Given the description of an element on the screen output the (x, y) to click on. 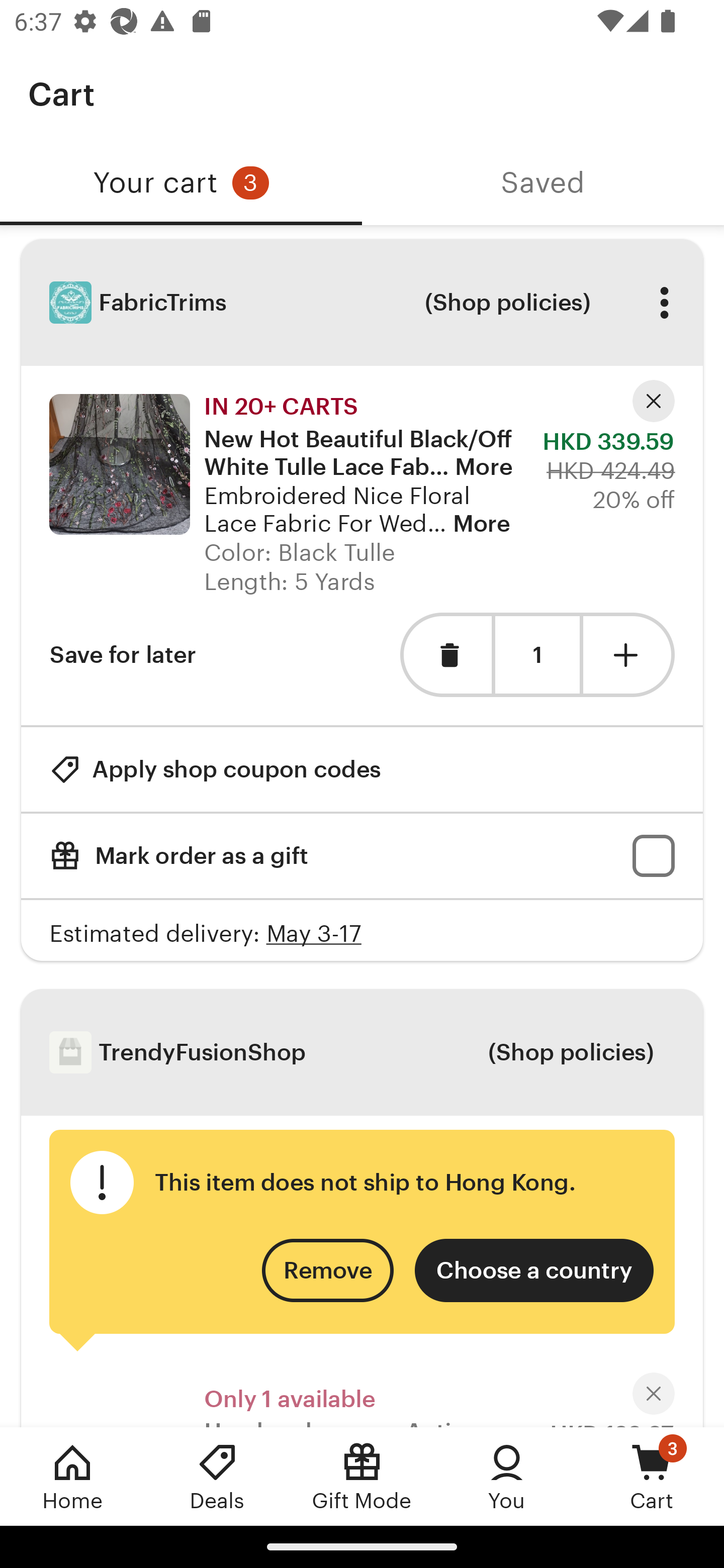
Saved, tab 2 of 2 Saved (543, 183)
FabricTrims (Shop policies) More options (361, 302)
(Shop policies) (507, 302)
More options (663, 302)
Save for later (122, 655)
Remove item from cart (445, 655)
Add one unit to cart (628, 655)
1 (537, 655)
Apply shop coupon codes (215, 769)
Mark order as a gift (361, 855)
TrendyFusionShop (Shop policies) (361, 1052)
(Shop policies) (570, 1051)
Remove (327, 1269)
Choose a country (533, 1269)
Home (72, 1475)
Deals (216, 1475)
Gift Mode (361, 1475)
You (506, 1475)
